Given the description of an element on the screen output the (x, y) to click on. 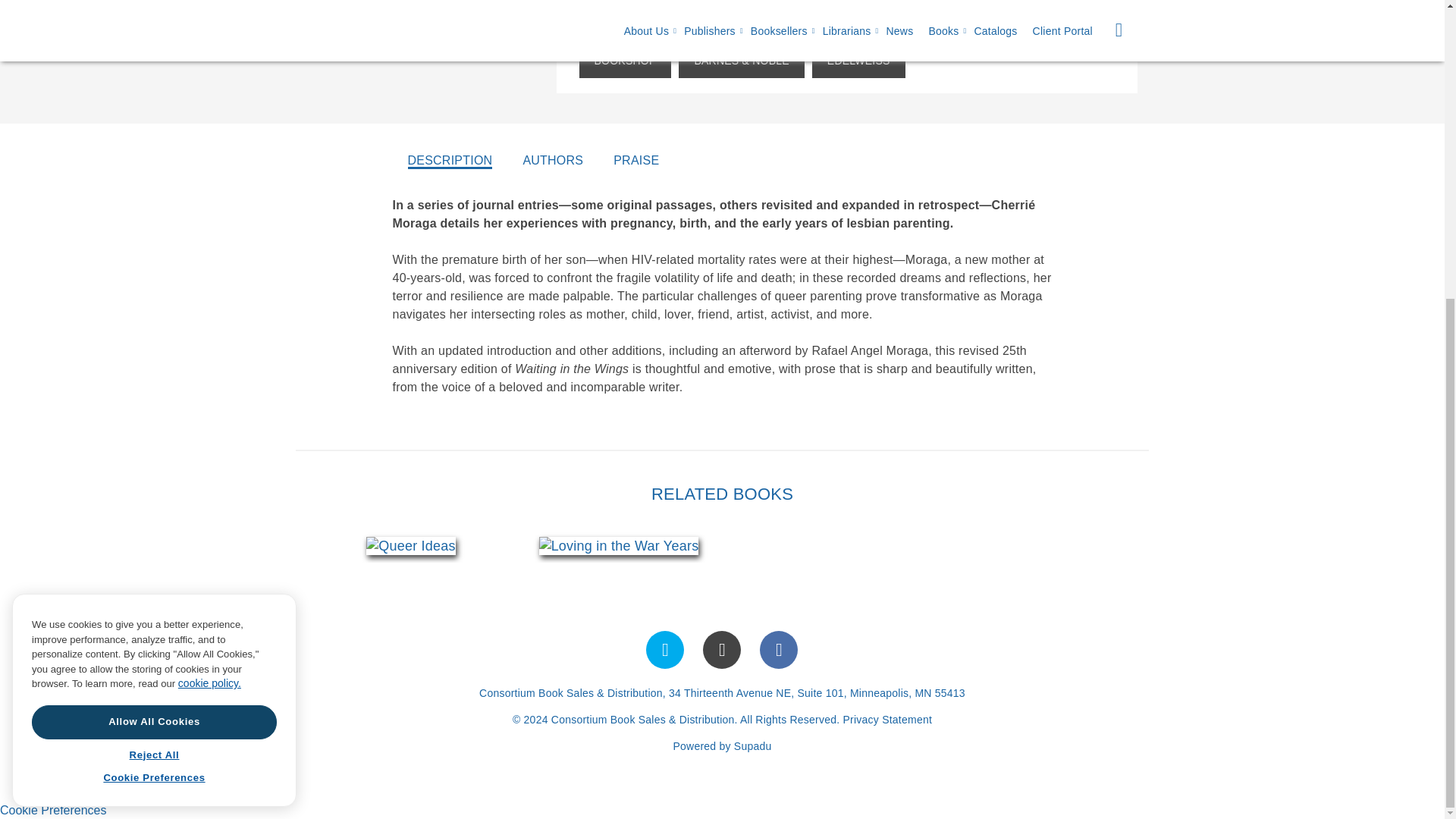
Follow us on Facebook (778, 649)
Loving in the War Years (618, 546)
Queer Ideas (410, 546)
Bookshop (625, 60)
Follow us on Instagram (722, 649)
Edelweiss (858, 60)
isbn-carousel (514, 545)
